Given the description of an element on the screen output the (x, y) to click on. 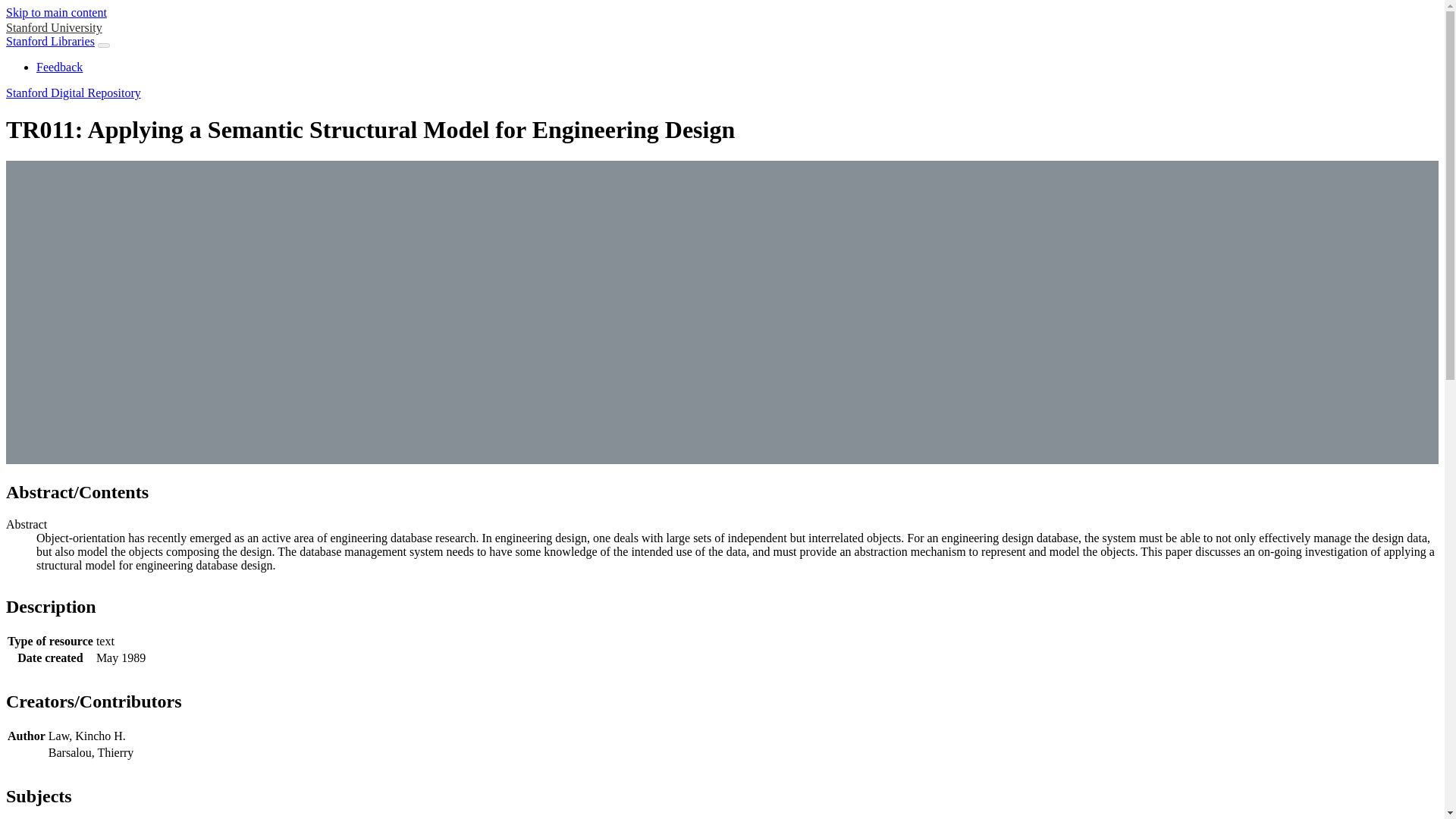
Skip to main content (55, 11)
Stanford Digital Repository (73, 92)
Stanford Libraries (49, 41)
Feedback (59, 66)
